Given the description of an element on the screen output the (x, y) to click on. 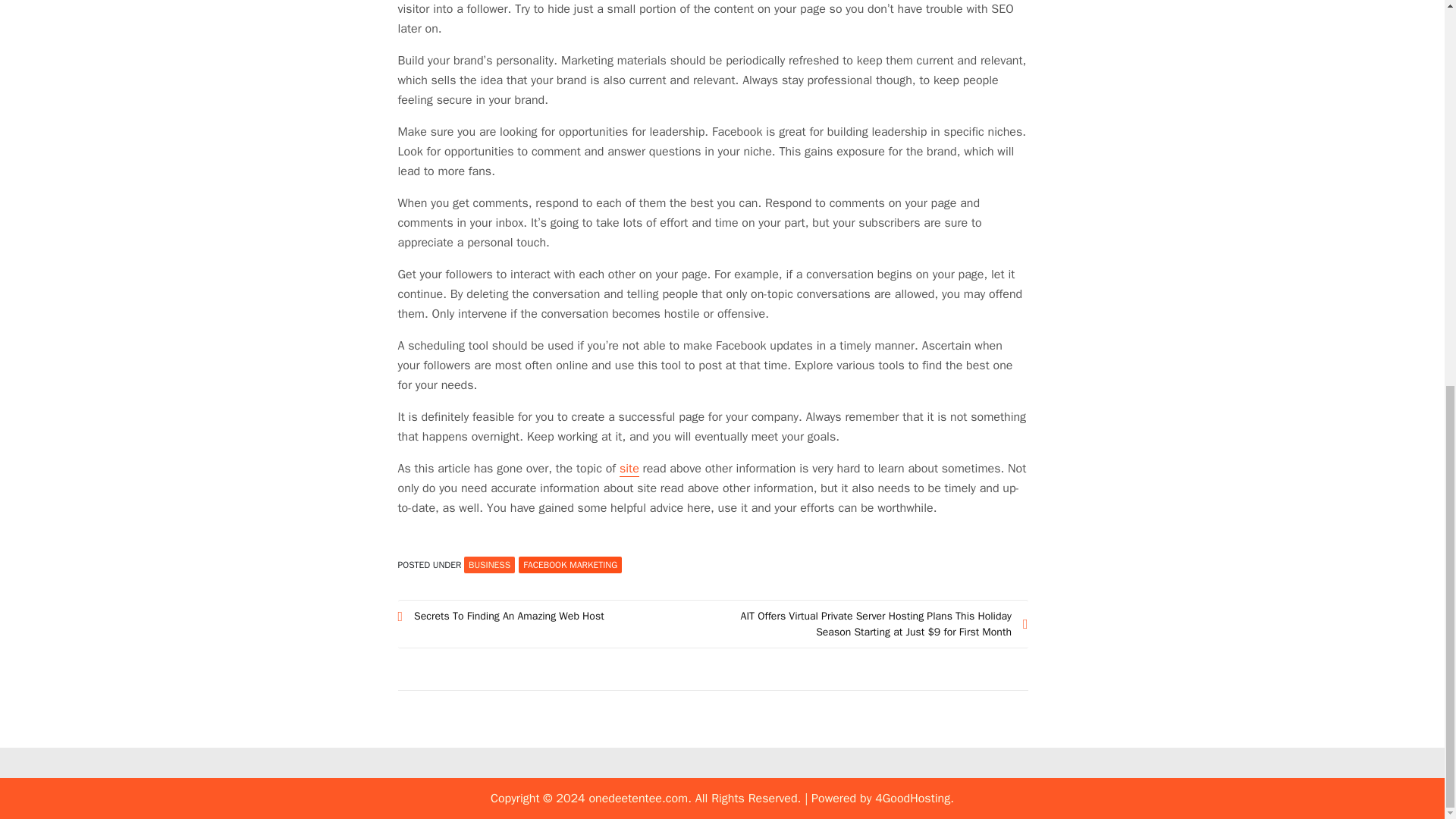
FACEBOOK MARKETING (569, 564)
Secrets To Finding An Amazing Web Host (555, 616)
site (629, 468)
BUSINESS (489, 564)
4GoodHosting (912, 798)
